Given the description of an element on the screen output the (x, y) to click on. 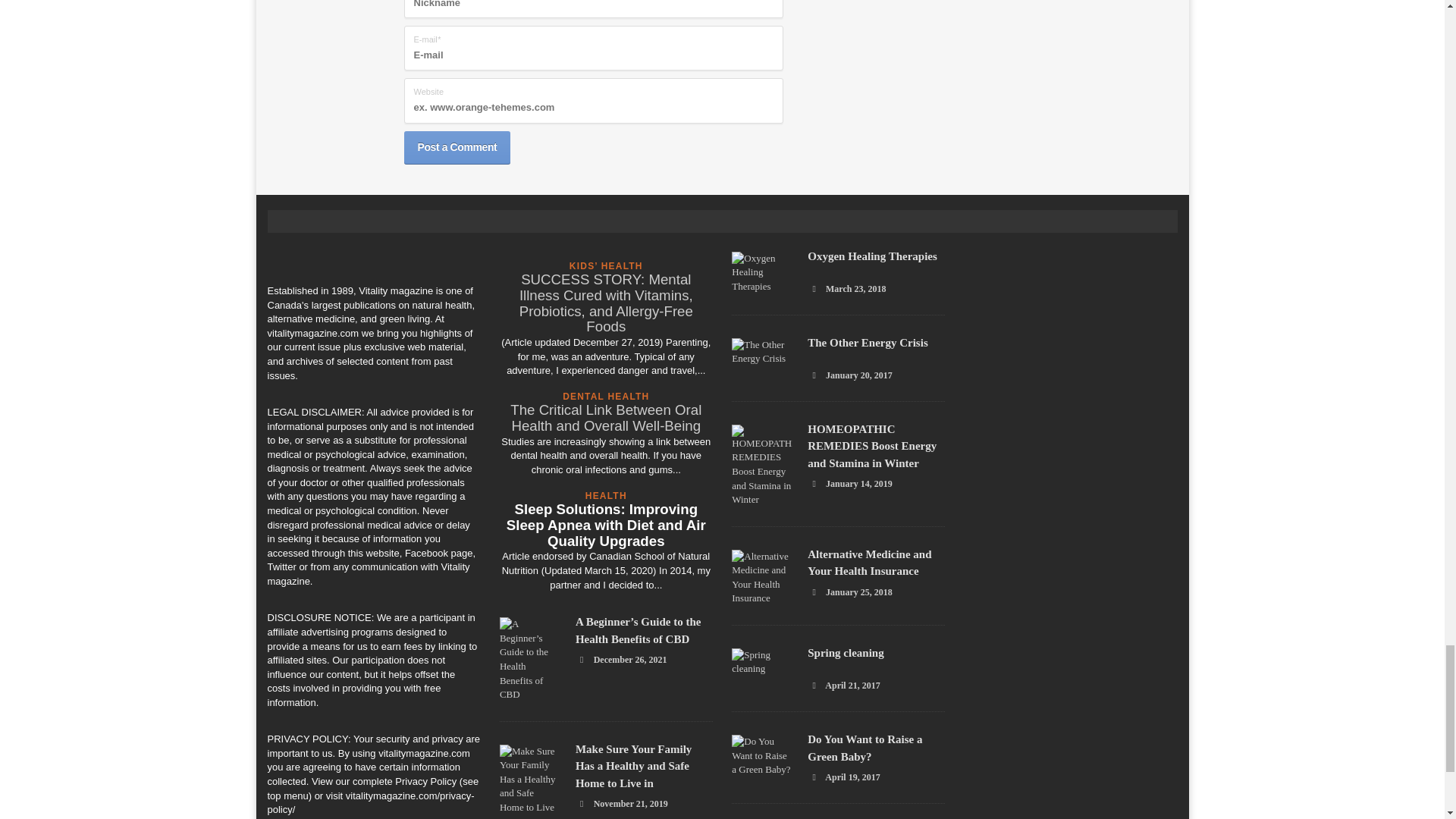
Post a Comment (457, 147)
